Given the description of an element on the screen output the (x, y) to click on. 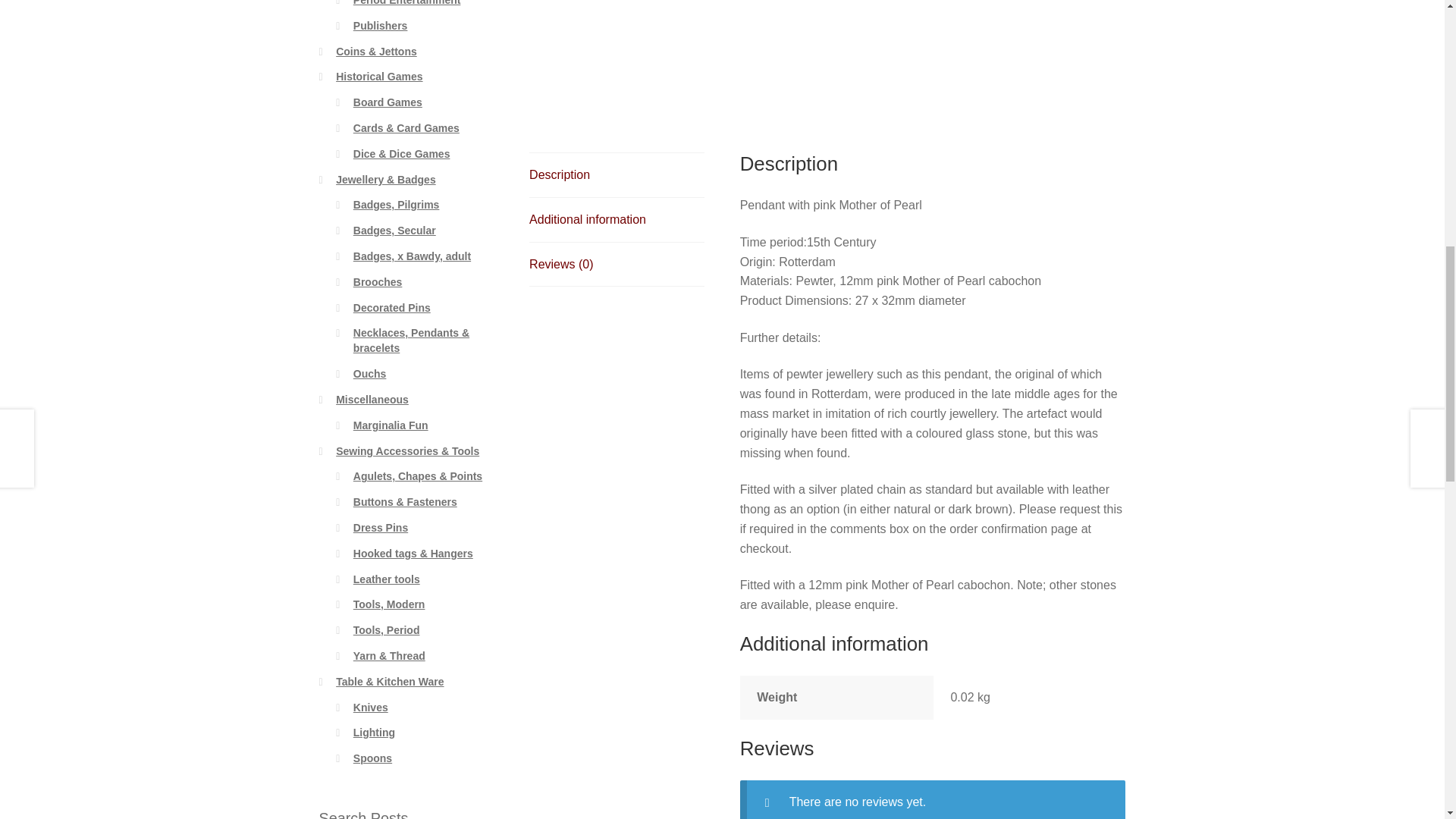
Pendant, Pink mother of Pearl (636, 34)
